Given the description of an element on the screen output the (x, y) to click on. 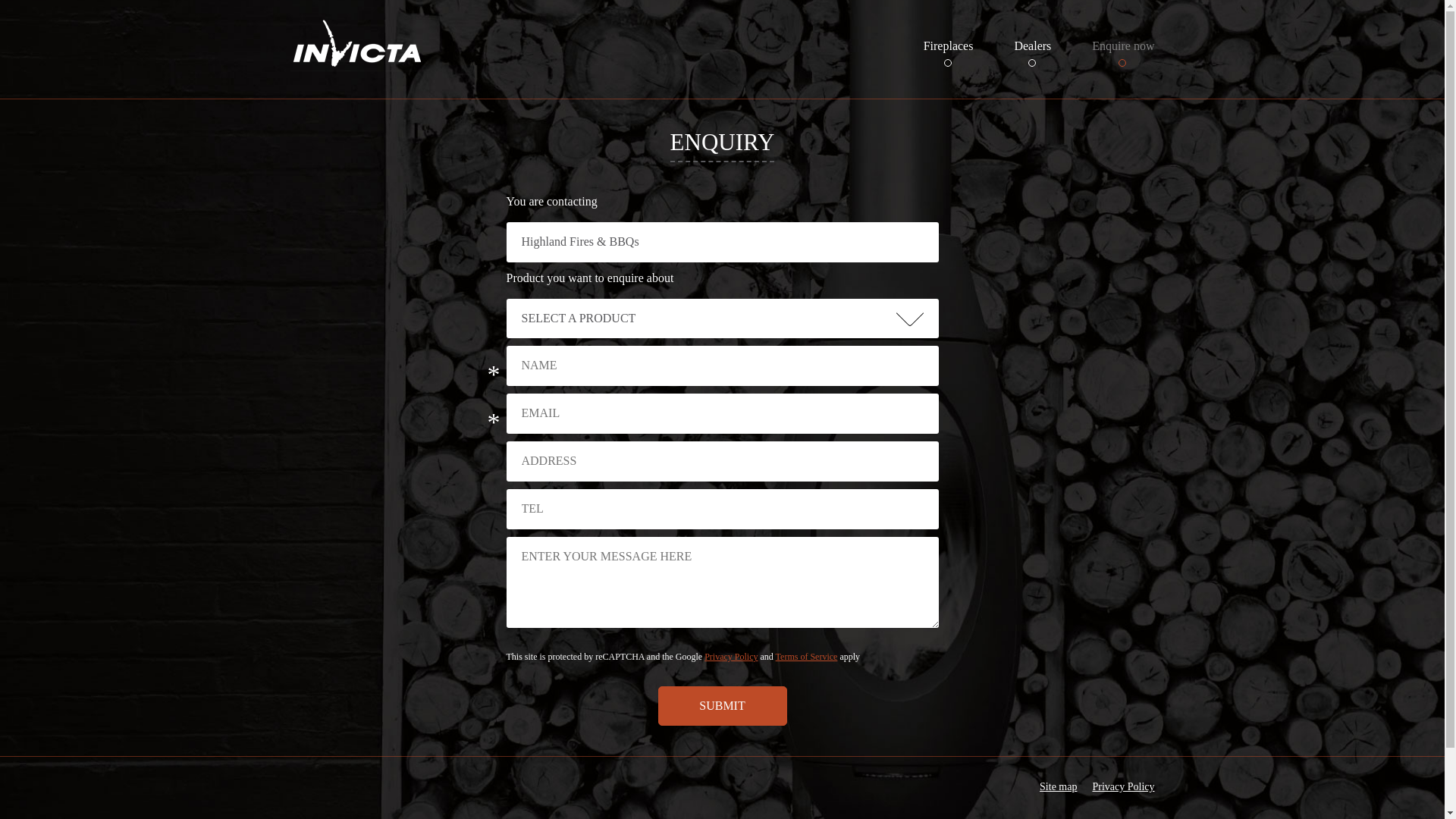
Dealers Element type: text (1032, 46)
Terms of Service Element type: text (806, 656)
Fireplaces Element type: text (948, 46)
Enquire now Element type: text (1123, 46)
Privacy Policy Element type: text (1123, 786)
SUBMIT Element type: text (722, 705)
Privacy Policy Element type: text (730, 656)
Site map Element type: text (1057, 786)
